Given the description of an element on the screen output the (x, y) to click on. 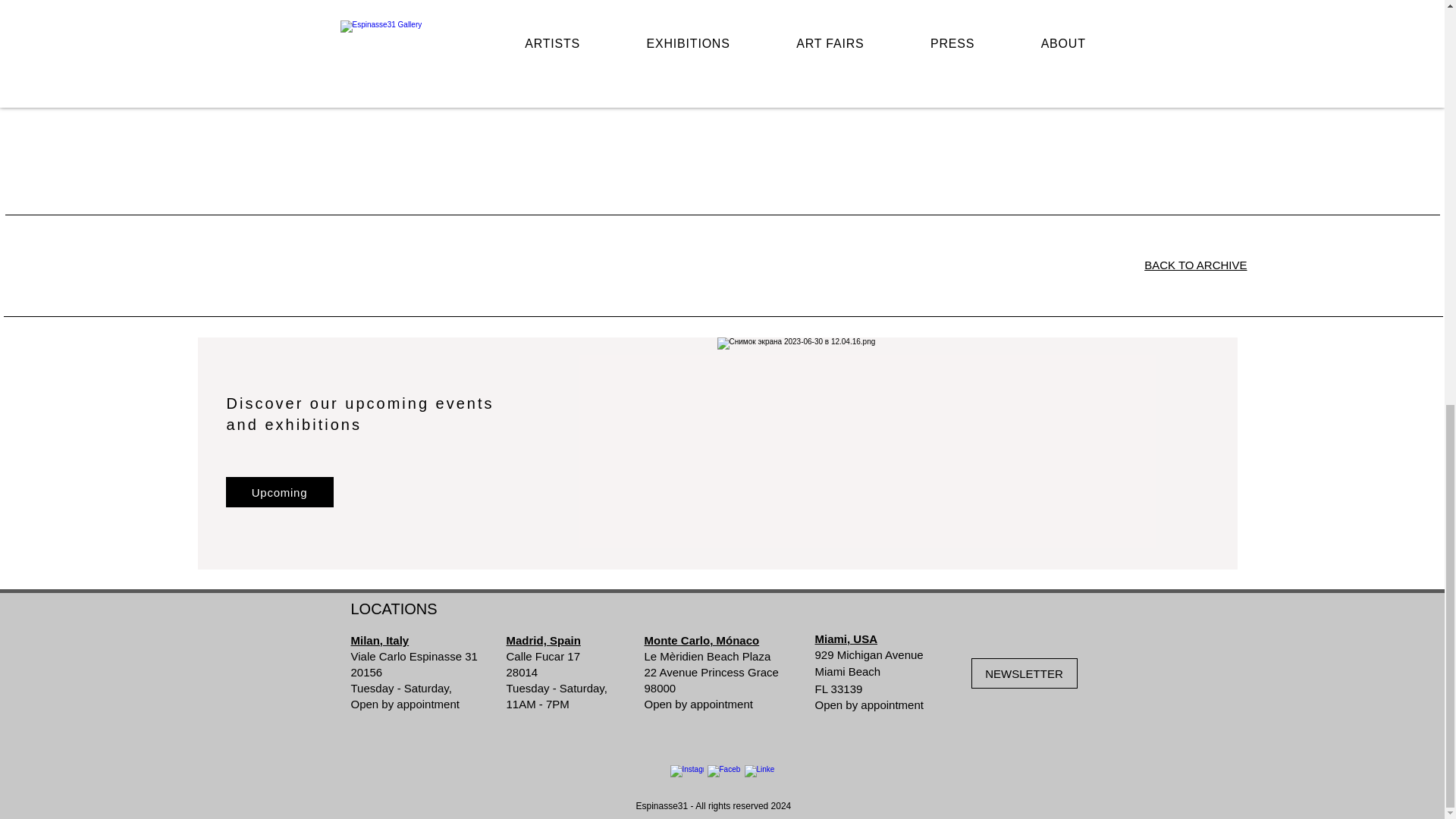
Calle Fucar 17 (543, 656)
Madrid, Spain (543, 640)
Upcoming (279, 491)
NEWSLETTER (1024, 673)
Miami, USA (845, 638)
Milan, Italy (379, 640)
BACK TO ARCHIVE (1195, 264)
